Given the description of an element on the screen output the (x, y) to click on. 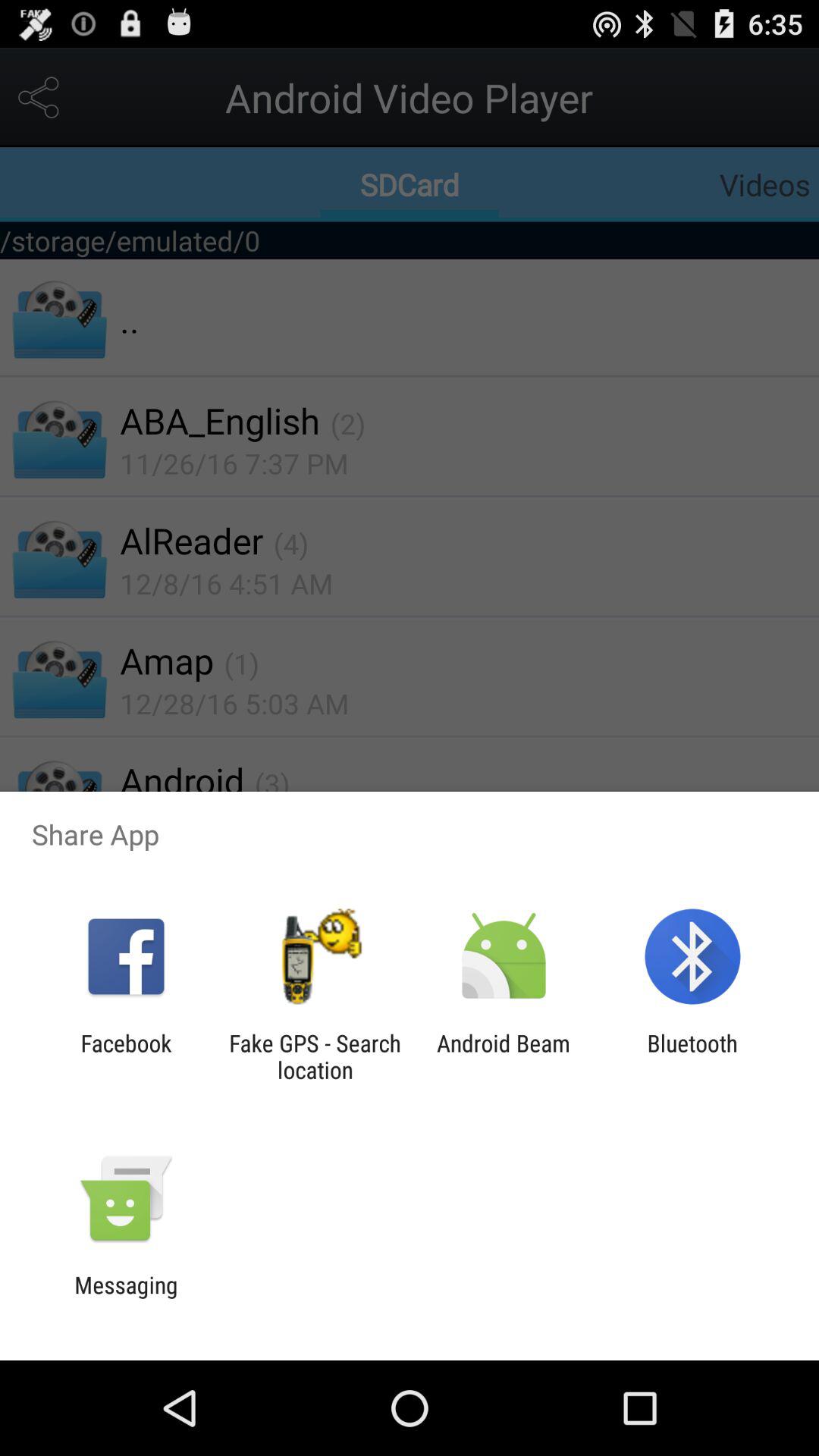
click the item next to fake gps search item (503, 1056)
